Given the description of an element on the screen output the (x, y) to click on. 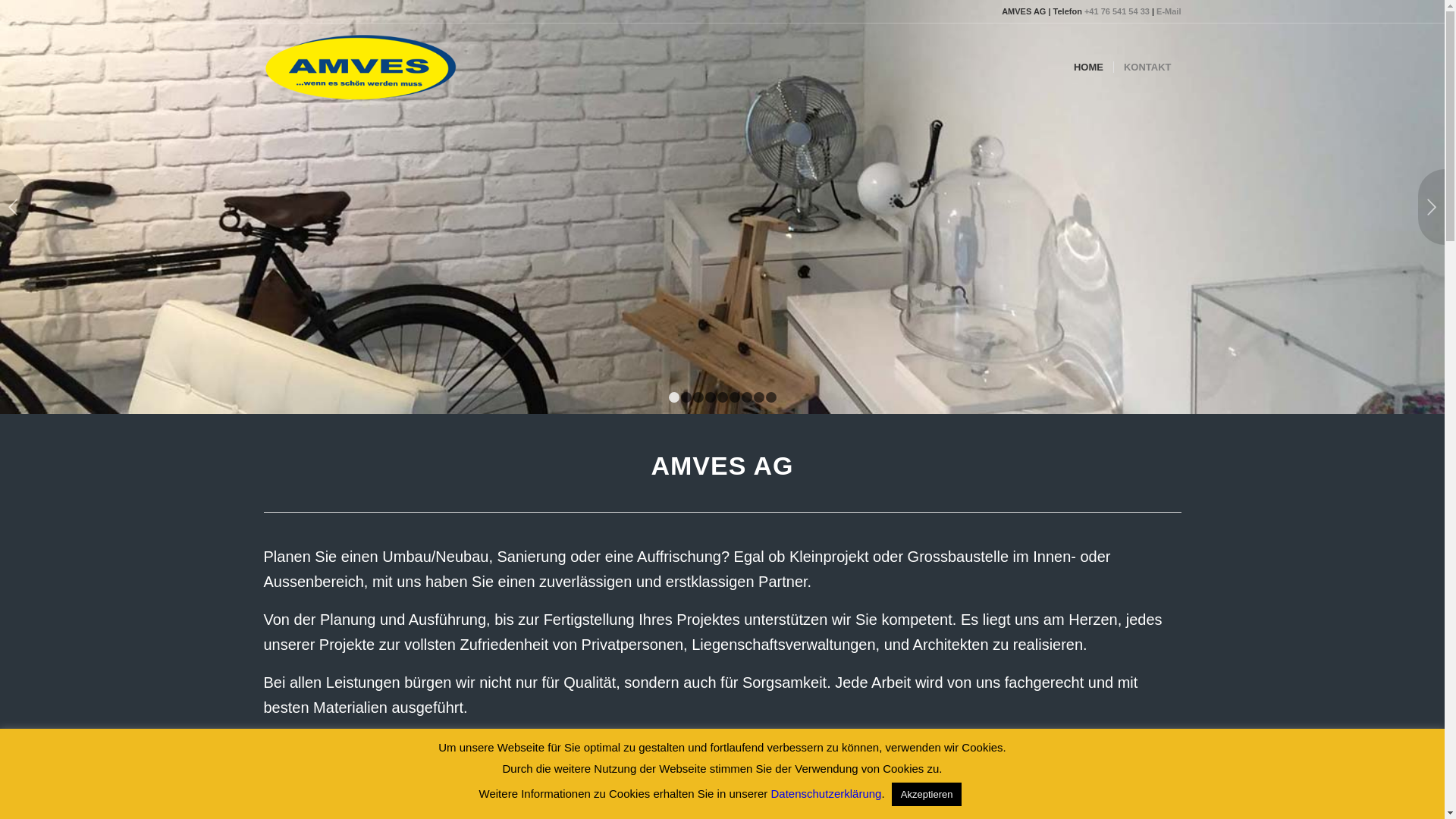
5 Element type: text (722, 397)
Akzeptieren Element type: text (926, 794)
HOME Element type: text (1088, 67)
+41 76 541 54 33 Element type: text (1116, 10)
Weiter Element type: text (1431, 206)
E-Mail Element type: text (1168, 10)
2 Element type: text (685, 397)
7 Element type: text (746, 397)
8 Element type: text (758, 397)
9 Element type: text (770, 397)
KONTAKT Element type: text (1147, 67)
4 Element type: text (710, 397)
3 Element type: text (698, 397)
6 Element type: text (734, 397)
1 Element type: text (673, 397)
